Given the description of an element on the screen output the (x, y) to click on. 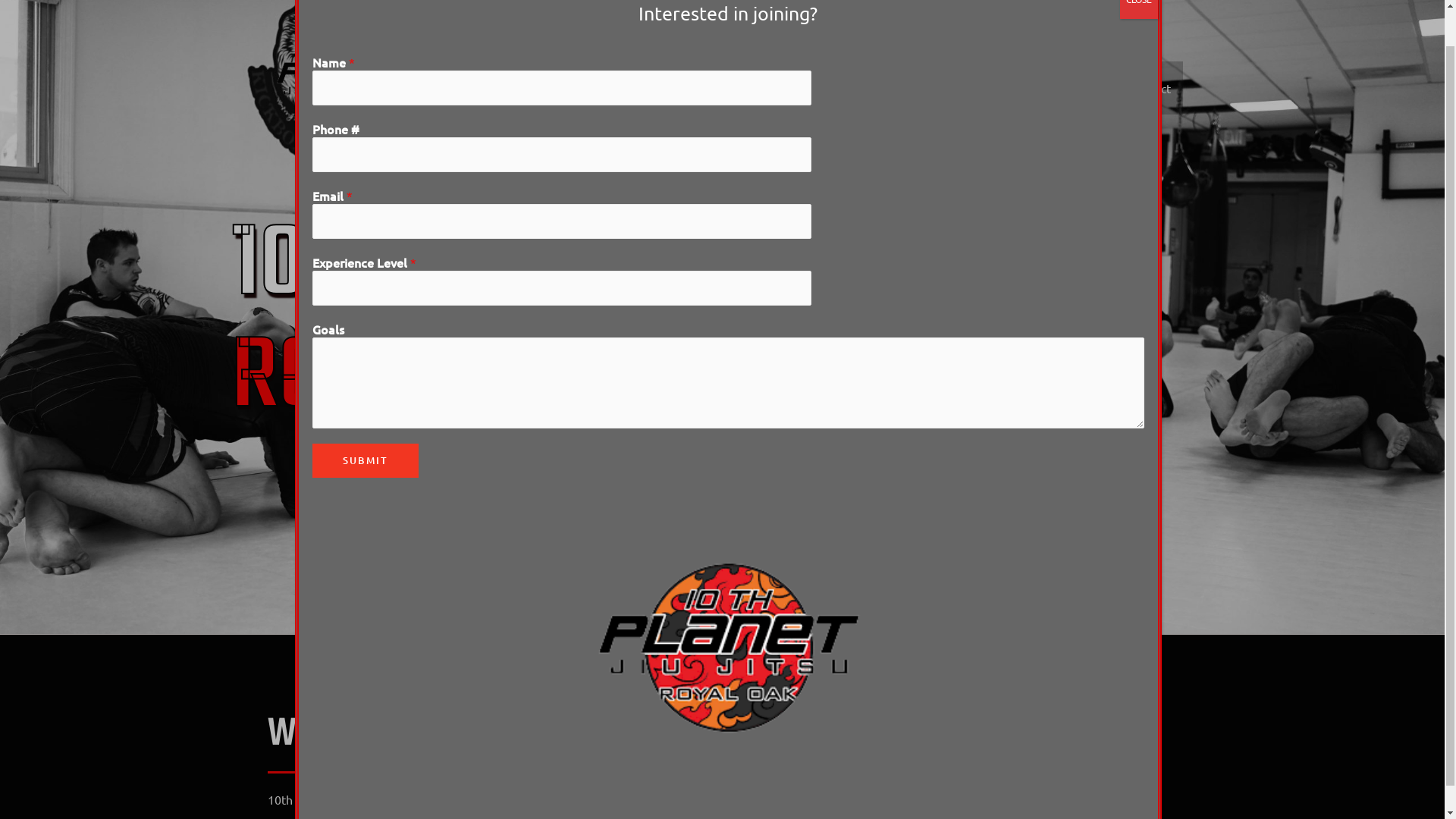
Schedule Element type: text (1080, 87)
SUBMIT Element type: text (365, 460)
Contact Element type: text (1150, 87)
Home Element type: text (715, 87)
Instructors Element type: text (876, 87)
Join/Drop In Element type: text (789, 87)
Gallery Element type: text (1012, 87)
Classes Element type: text (949, 87)
